Given the description of an element on the screen output the (x, y) to click on. 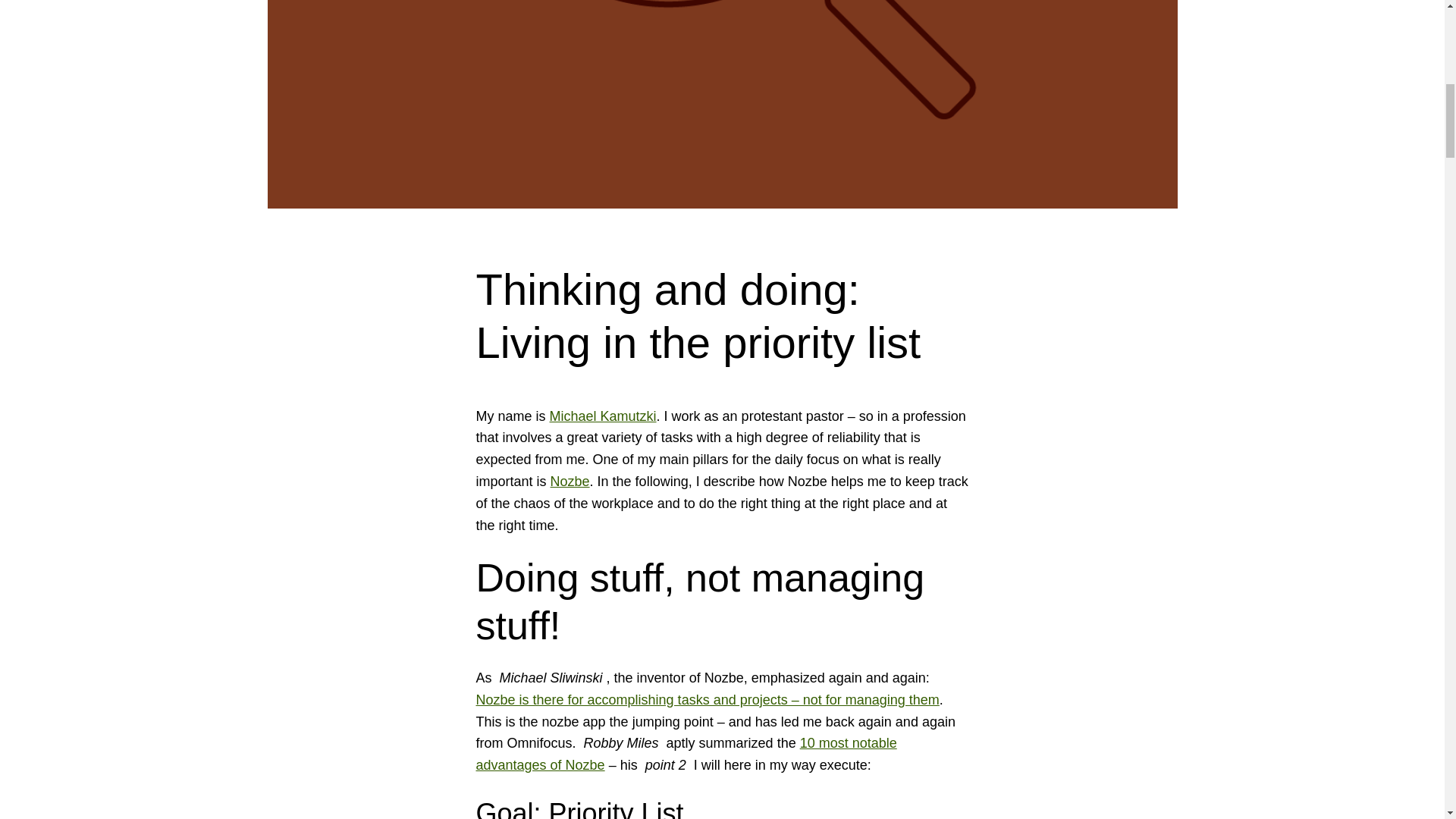
Michael Kamutzki (603, 416)
10 most notable advantages of Nozbe (686, 754)
Nozbe (569, 481)
